Given the description of an element on the screen output the (x, y) to click on. 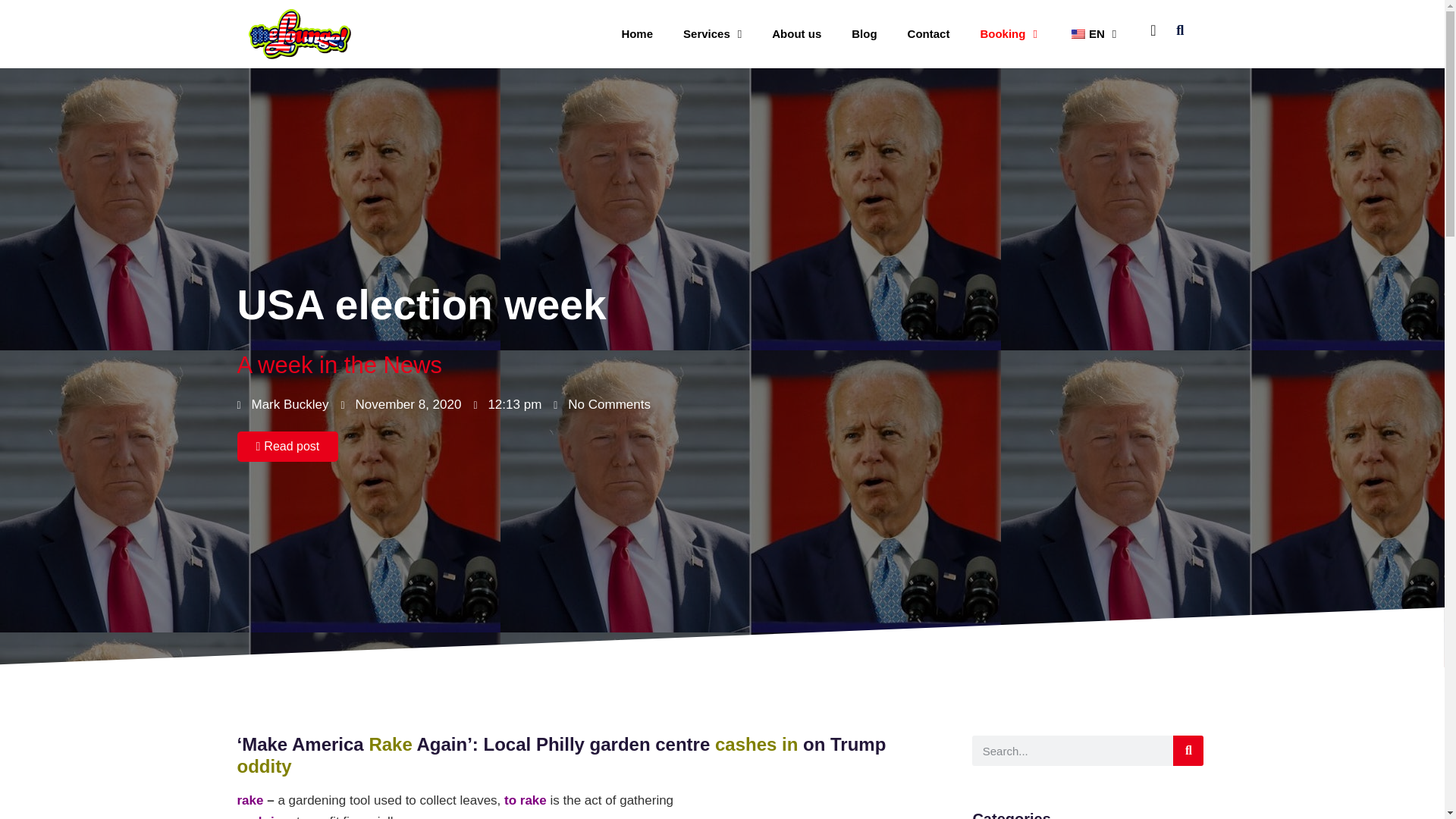
Contact (928, 33)
Services (712, 33)
Mark Buckley (282, 404)
English (1077, 33)
About us (796, 33)
Home (636, 33)
A week in the News (338, 365)
EN (1091, 33)
Booking (1007, 33)
Blog (863, 33)
